Given the description of an element on the screen output the (x, y) to click on. 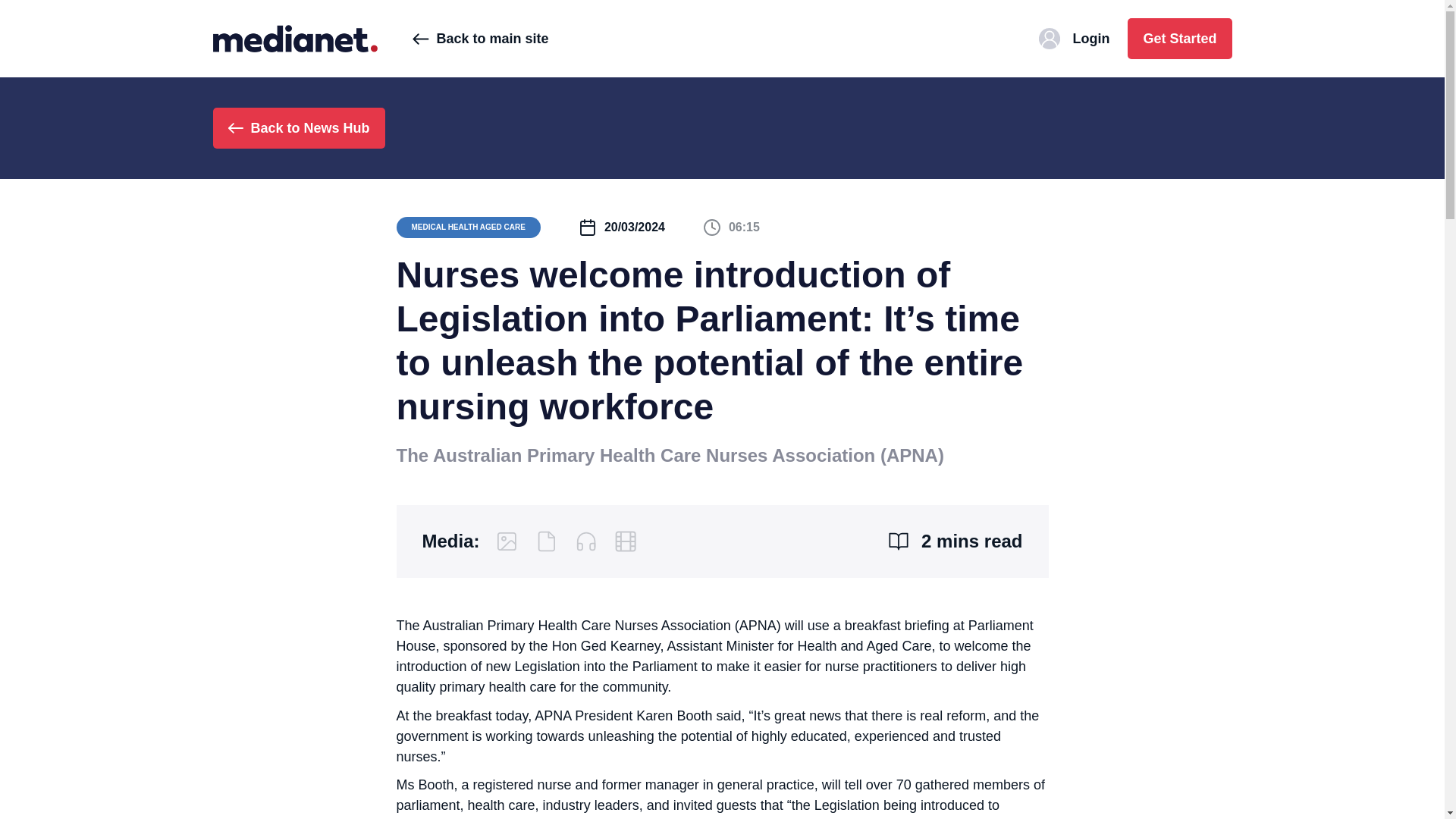
No image attachments (507, 541)
No file attachments (546, 541)
No video attachments (624, 541)
No audio attachments (585, 541)
Login (1074, 38)
Get Started (1178, 38)
Back to News Hub (298, 127)
Back to main site (480, 38)
News Hub (294, 38)
